Given the description of an element on the screen output the (x, y) to click on. 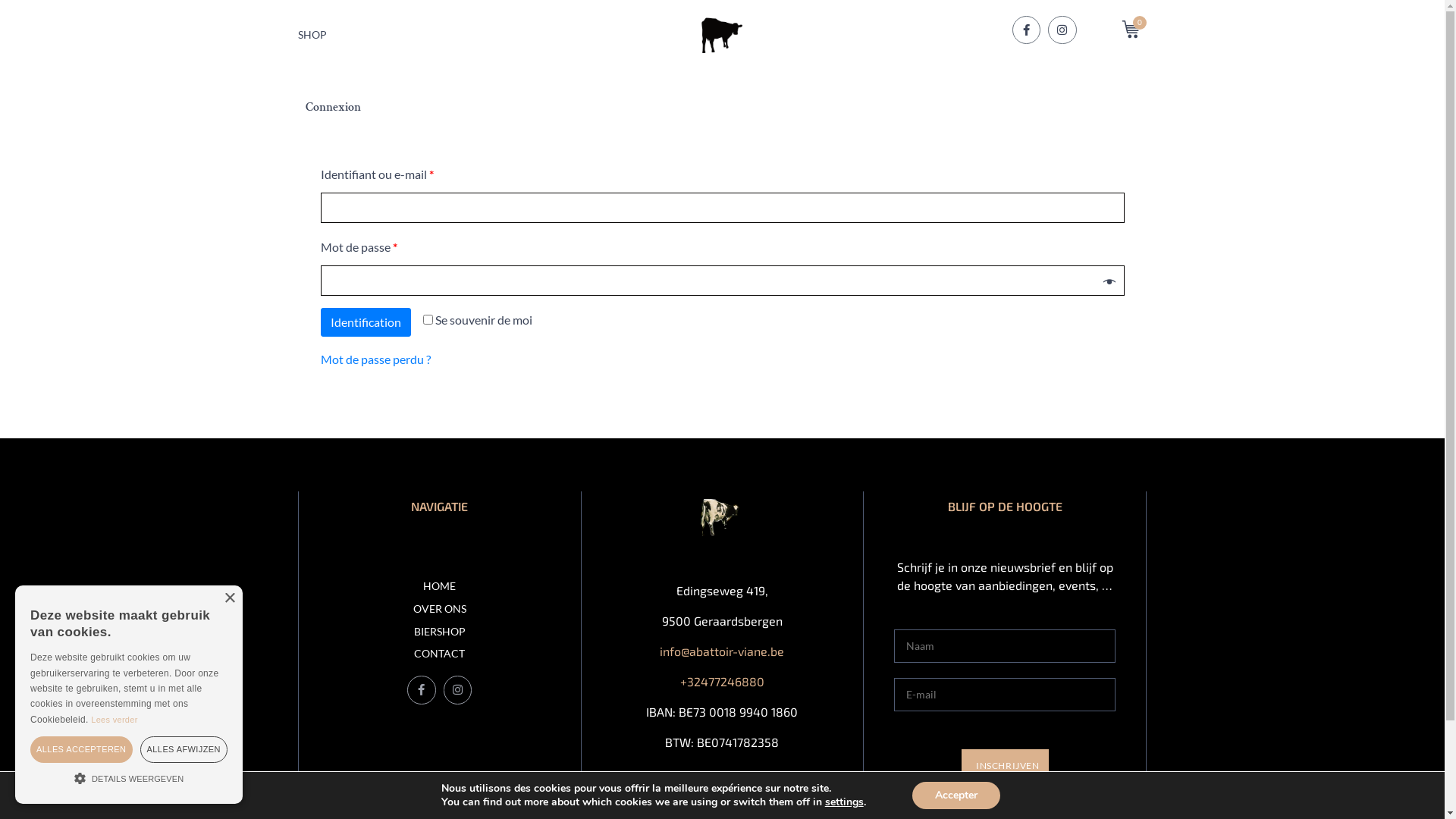
Lees verder Element type: text (114, 719)
Identification Element type: text (365, 321)
CONTACT Element type: text (439, 653)
BIERSHOP Element type: text (439, 631)
OVER ONS Element type: text (439, 608)
INSCHRIJVEN Element type: text (1004, 765)
0 Element type: text (1134, 29)
Mot de passe perdu ? Element type: text (374, 358)
SHOP Element type: text (311, 33)
+32477246880 Element type: text (722, 681)
info@abattoir-viane.be Element type: text (721, 650)
Accepter Element type: text (956, 795)
HOME Element type: text (439, 586)
